Given the description of an element on the screen output the (x, y) to click on. 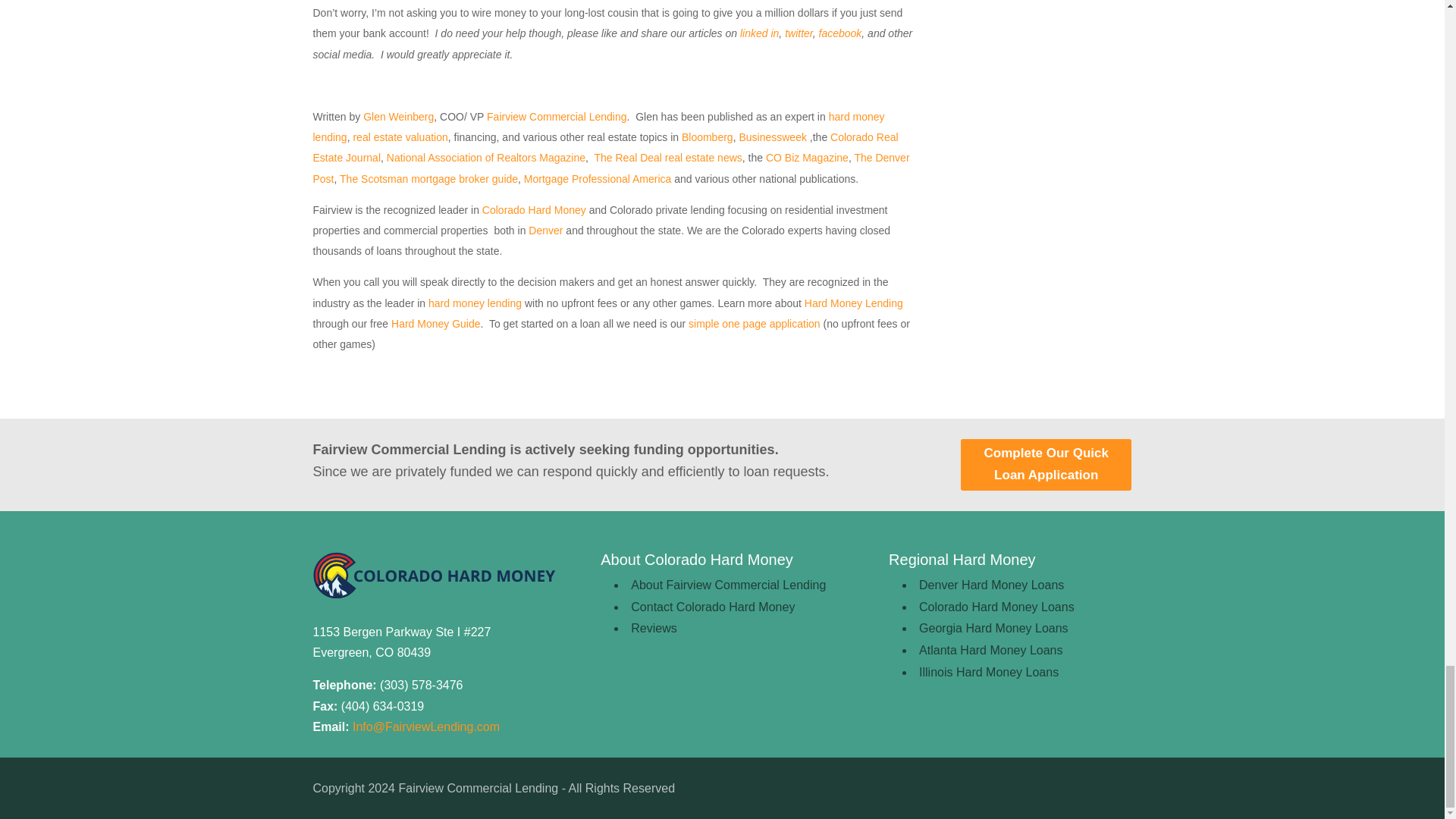
Colorado Hard Money Logo CO (433, 575)
